Given the description of an element on the screen output the (x, y) to click on. 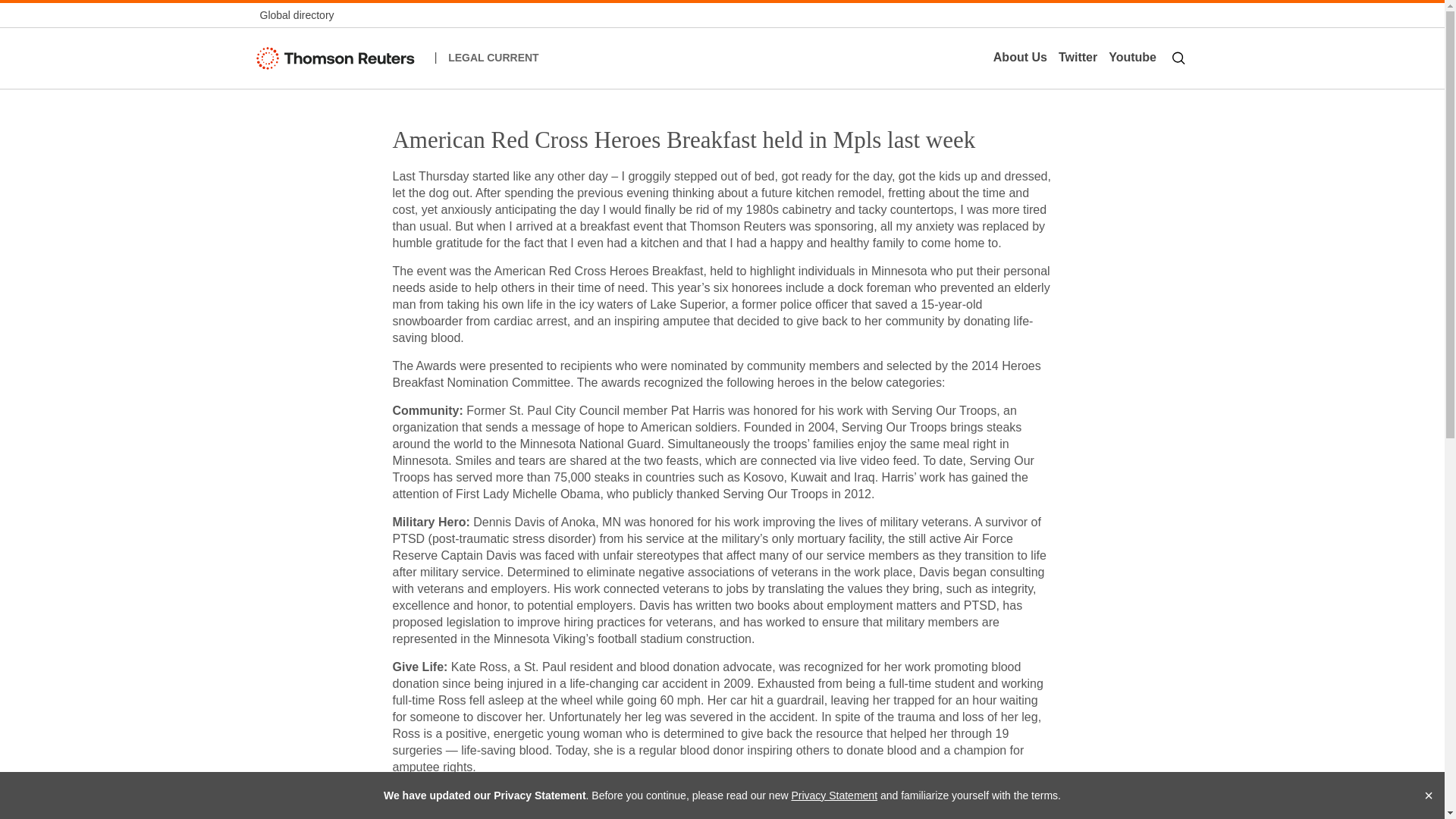
About Us (1019, 58)
Global directory (296, 15)
LEGAL CURRENT (493, 57)
Youtube (1132, 58)
Privacy Statement (833, 795)
Twitter (1077, 58)
